Given the description of an element on the screen output the (x, y) to click on. 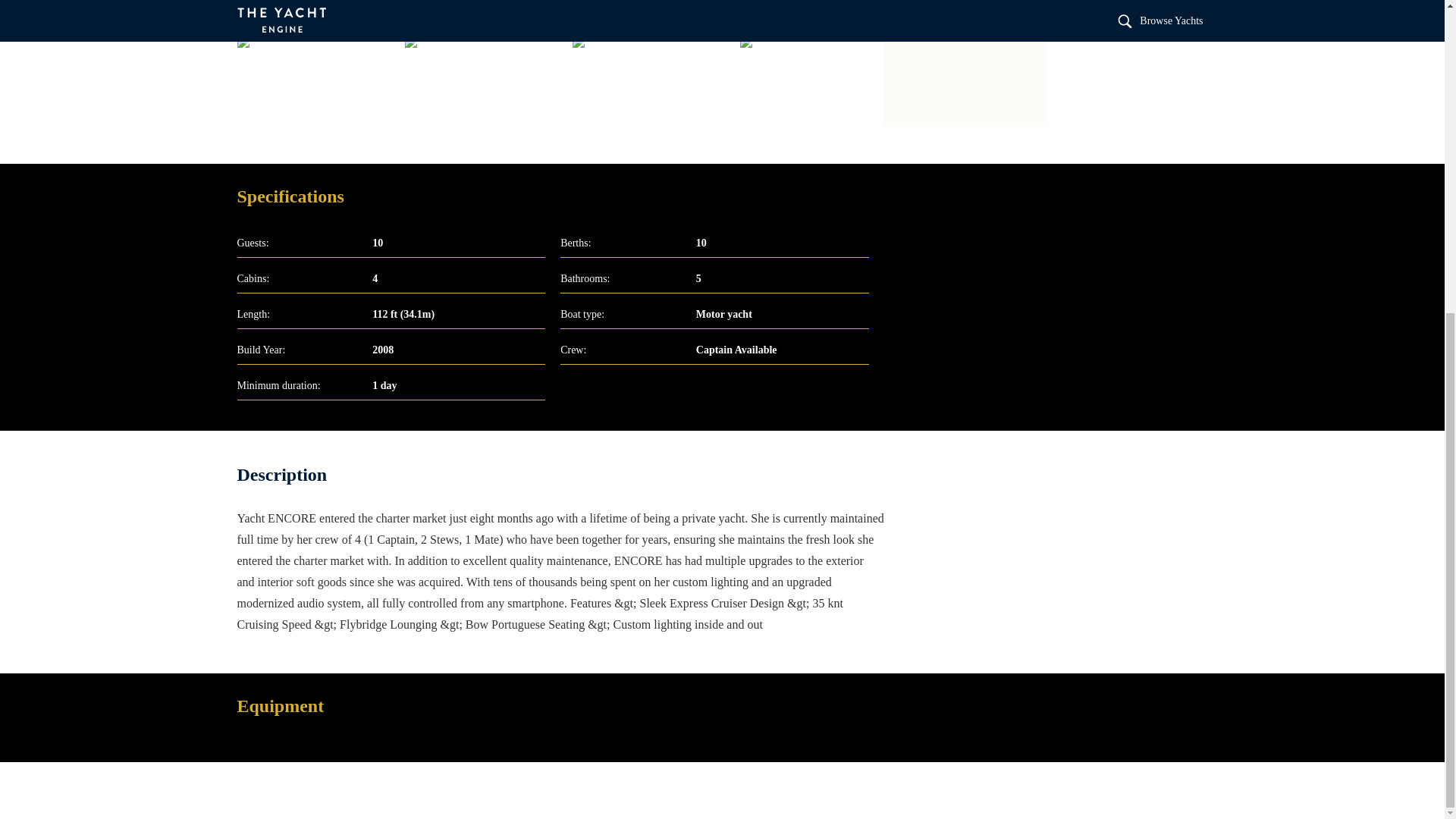
 The Yacht Engine (313, 81)
 The Yacht Engine (559, 12)
 The Yacht Engine (117, 12)
